Given the description of an element on the screen output the (x, y) to click on. 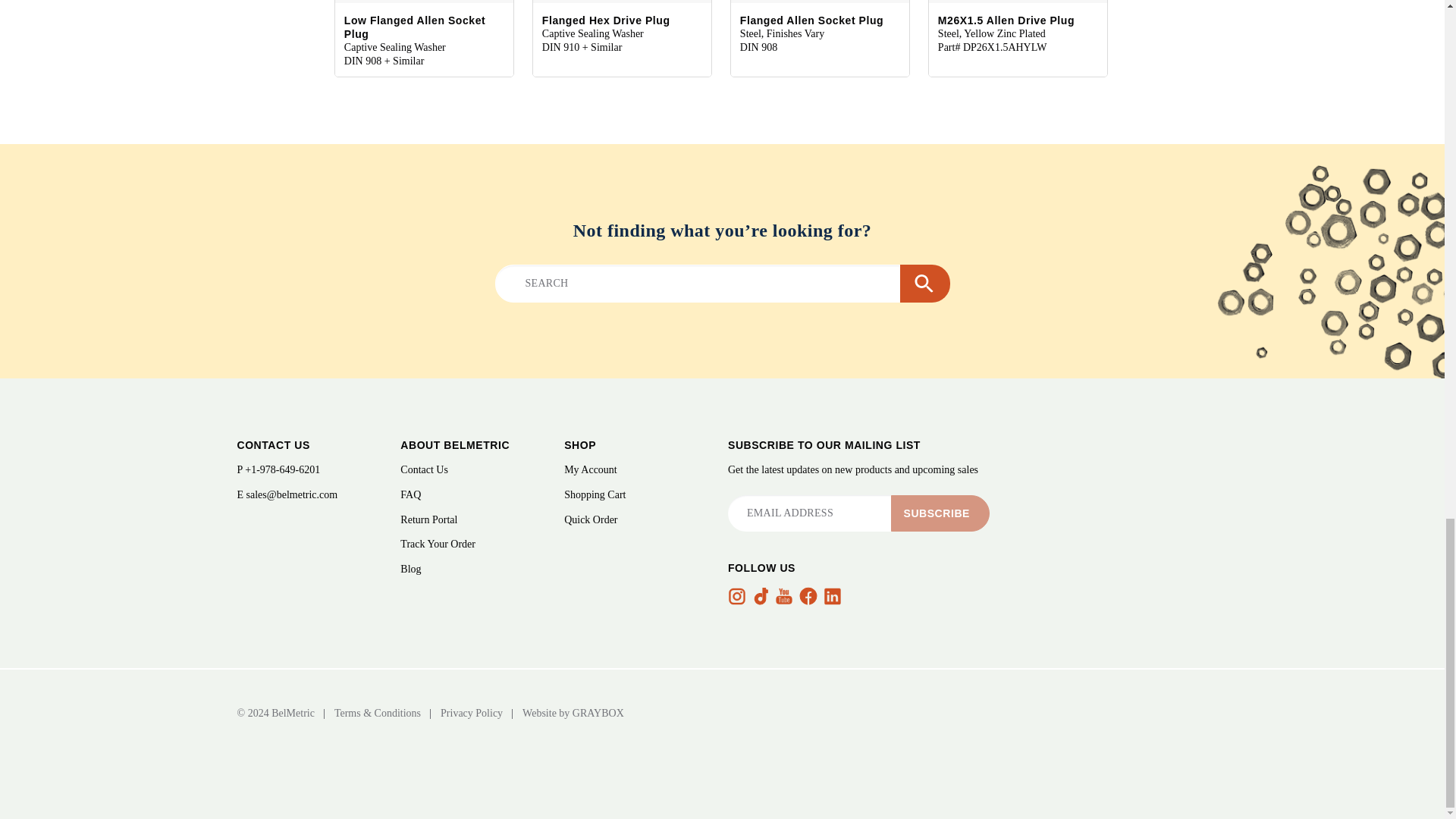
Subscribe (940, 513)
